Given the description of an element on the screen output the (x, y) to click on. 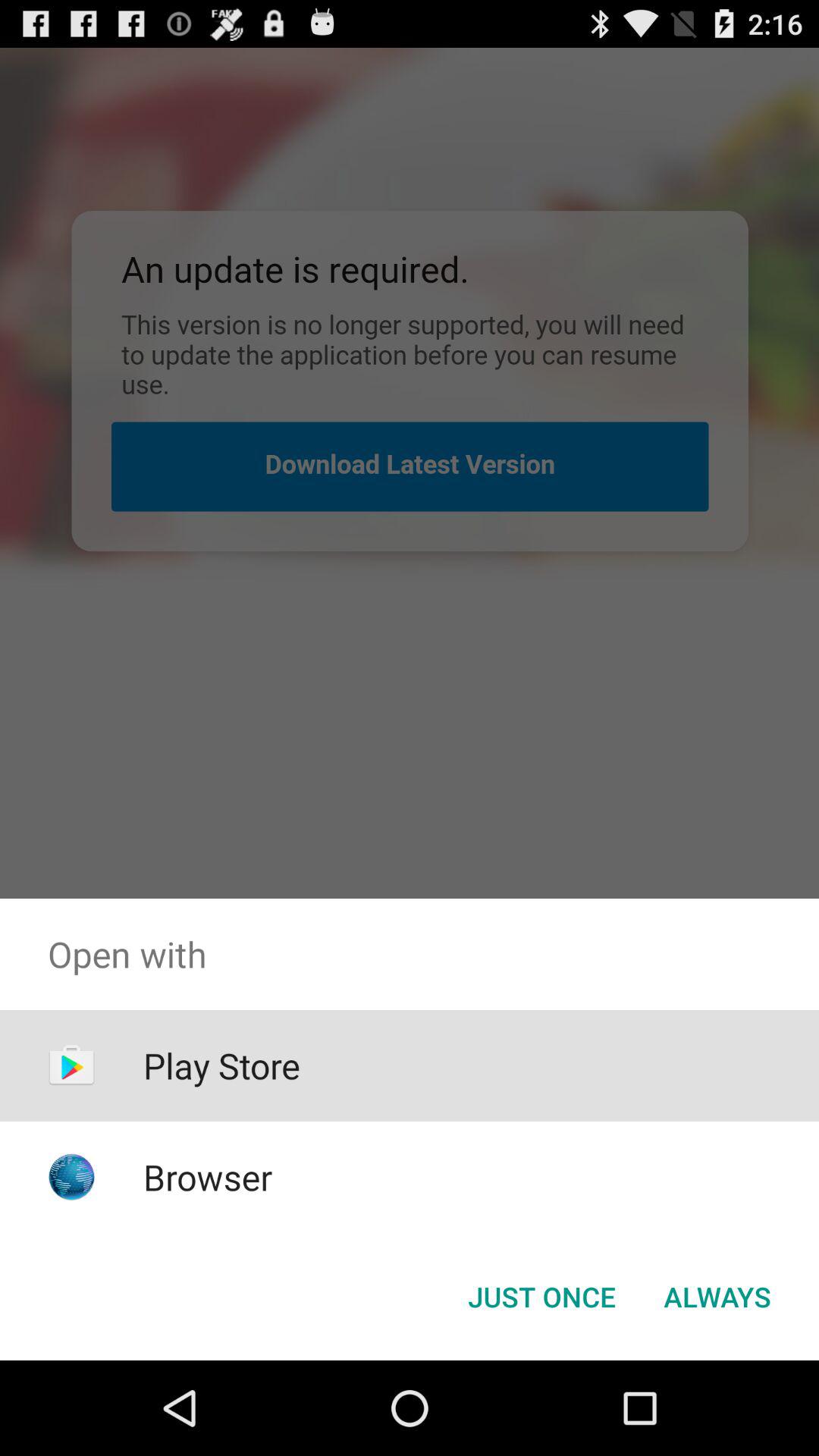
launch the icon above the browser item (221, 1065)
